Given the description of an element on the screen output the (x, y) to click on. 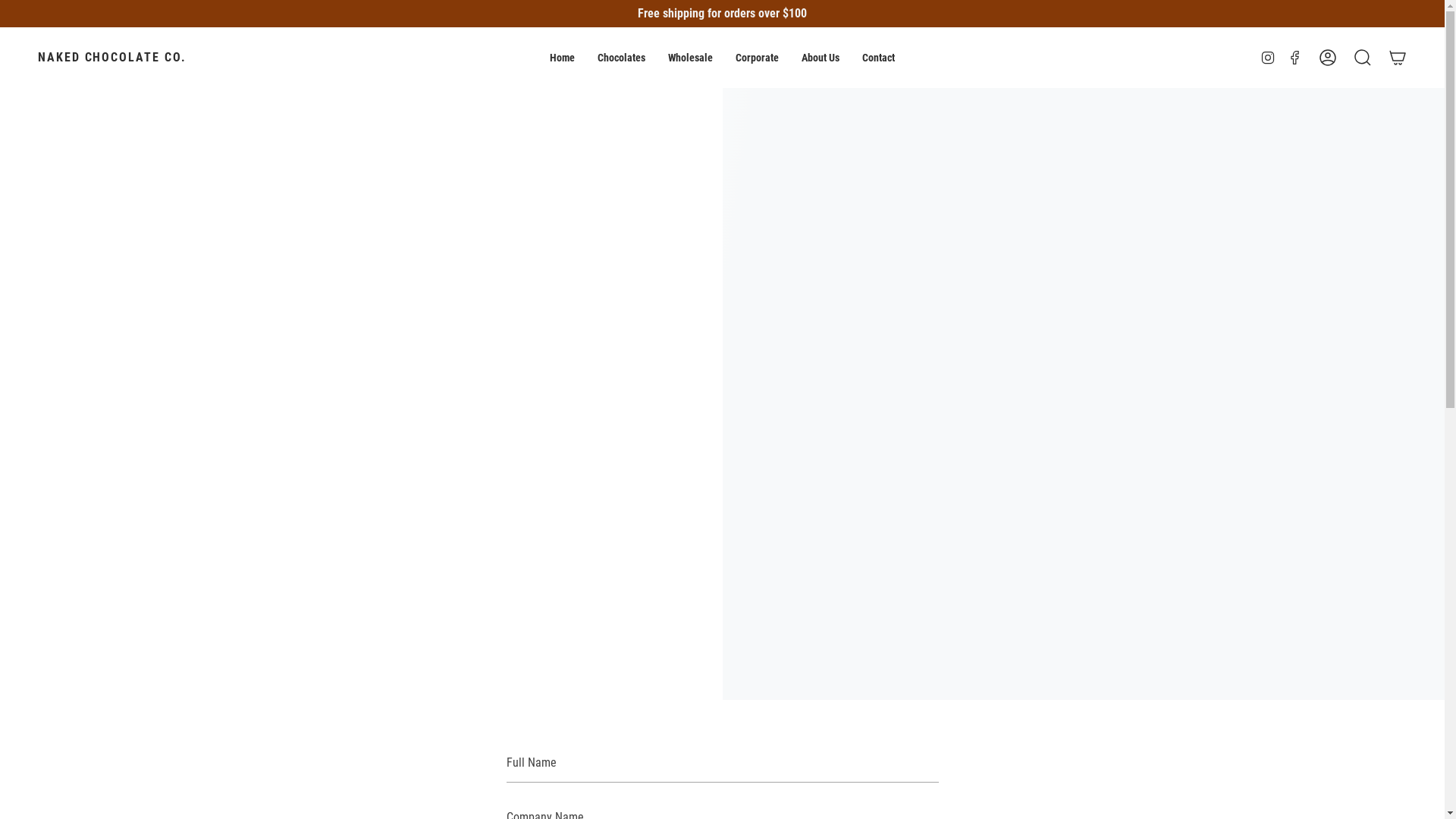
About Us Element type: text (820, 57)
Home Element type: text (562, 57)
Instagram Element type: text (1267, 57)
Wholesale Element type: text (690, 57)
NAKED CHOCOLATE CO. Element type: text (111, 57)
Corporate Element type: text (757, 57)
Cart Element type: text (1397, 57)
Account Element type: text (1327, 57)
Facebook Element type: text (1294, 57)
Contact Element type: text (878, 57)
Chocolates Element type: text (621, 57)
